Given the description of an element on the screen output the (x, y) to click on. 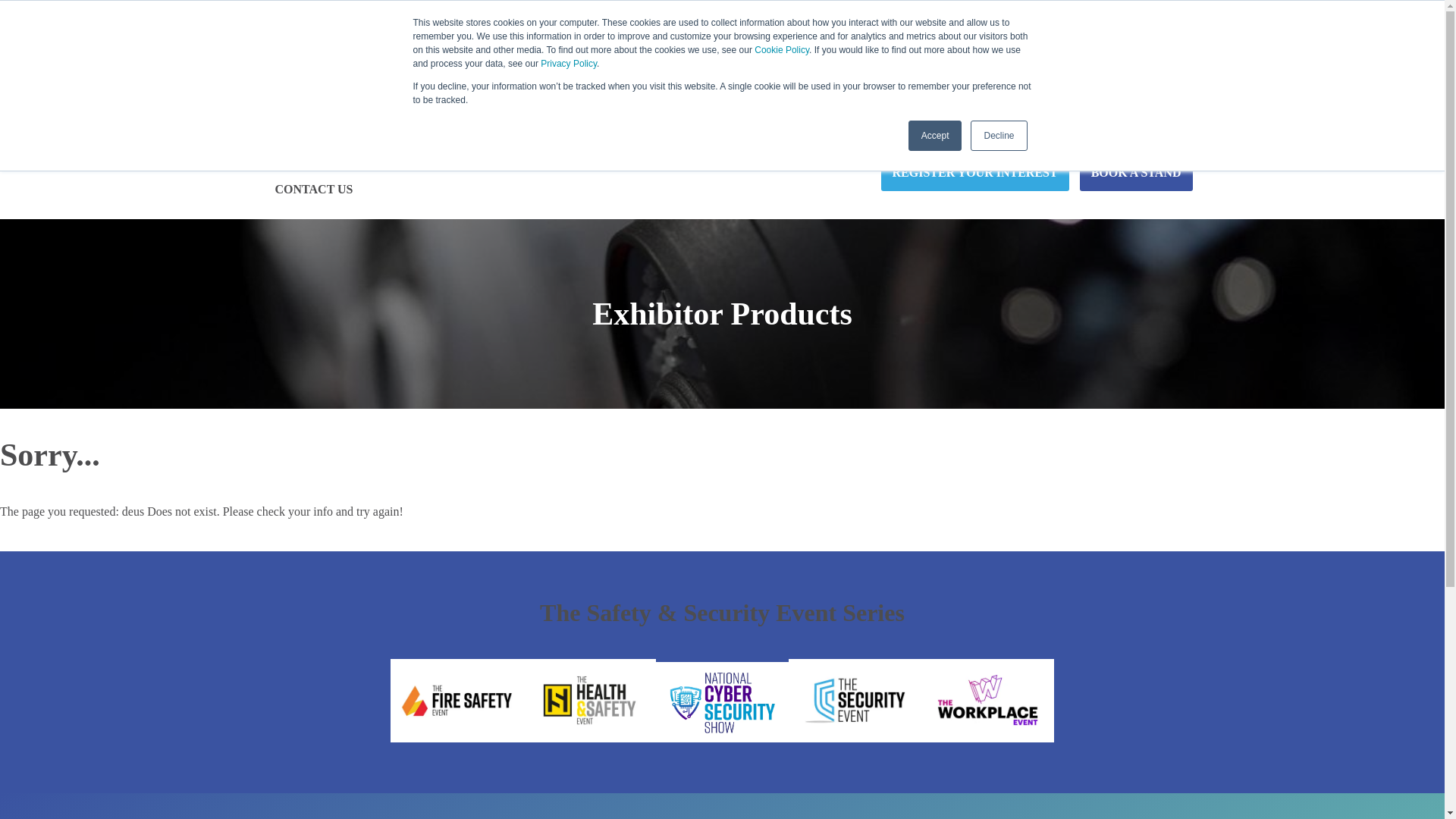
Cookie Policy (781, 50)
Privacy Policy (568, 63)
Accept (935, 135)
Decline (998, 135)
